Given the description of an element on the screen output the (x, y) to click on. 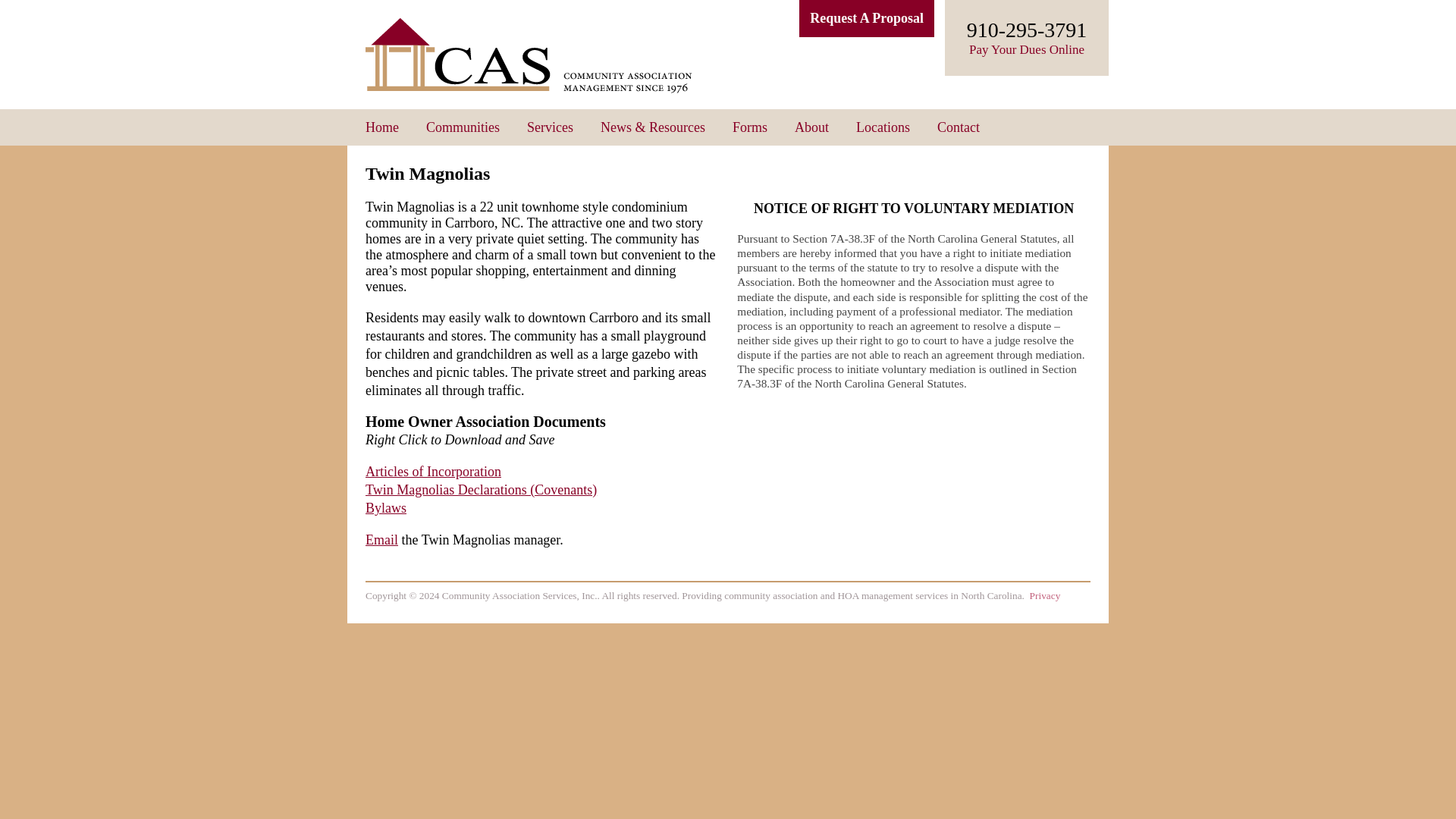
Services (550, 126)
Locations (882, 126)
Articles of Incorporation (432, 471)
Contact (958, 126)
Pay Your Dues Online (1026, 49)
About (812, 126)
Privacy (1045, 595)
Bylaws (385, 507)
Home (381, 126)
Email (381, 539)
Forms (749, 126)
Request A Proposal (866, 18)
Communities (462, 126)
